Given the description of an element on the screen output the (x, y) to click on. 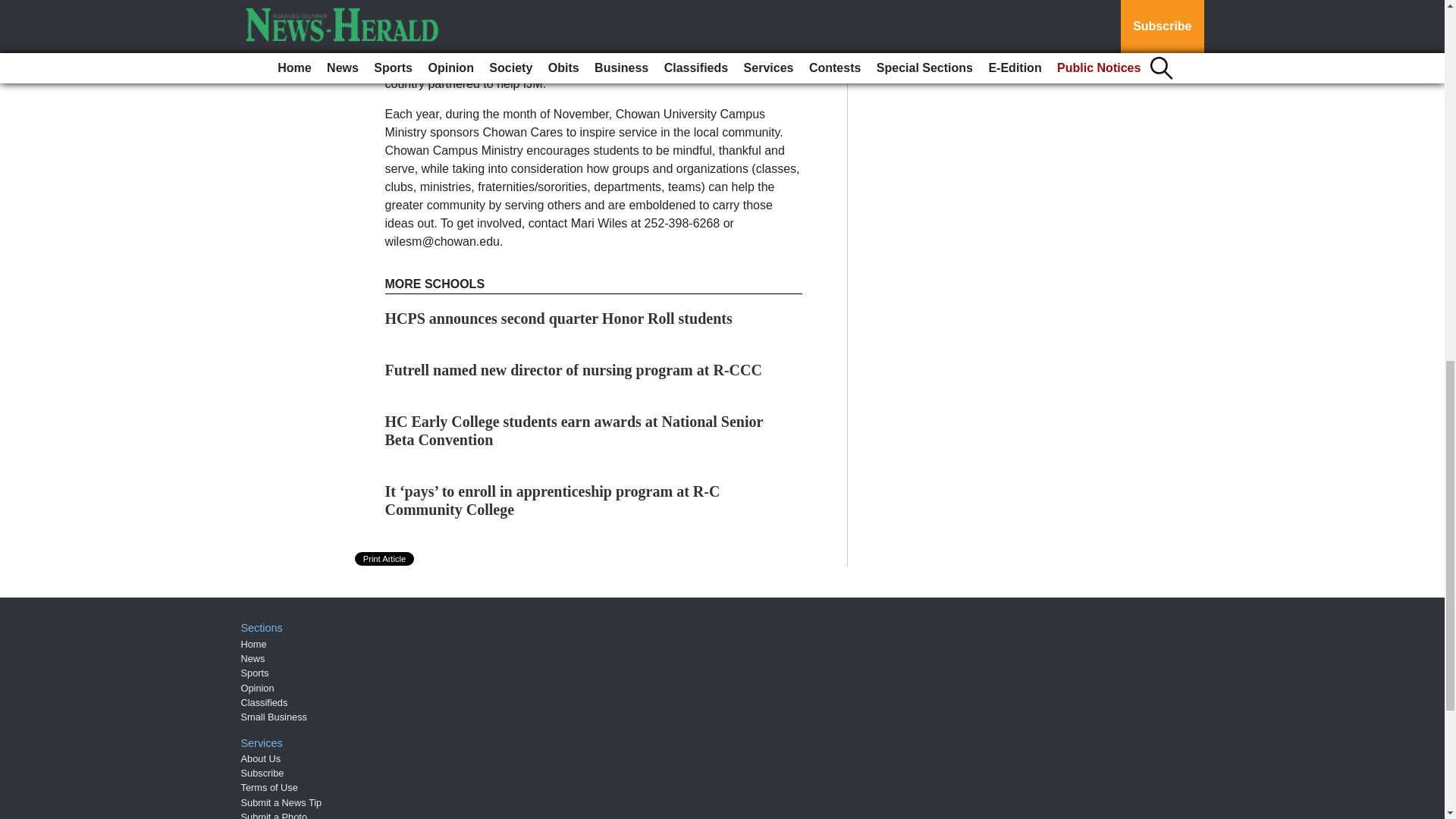
Print Article (384, 558)
HCPS announces second quarter Honor Roll students (558, 318)
HCPS announces second quarter Honor Roll students (558, 318)
Futrell named new director of nursing program at R-CCC (573, 369)
Futrell named new director of nursing program at R-CCC (573, 369)
